Given the description of an element on the screen output the (x, y) to click on. 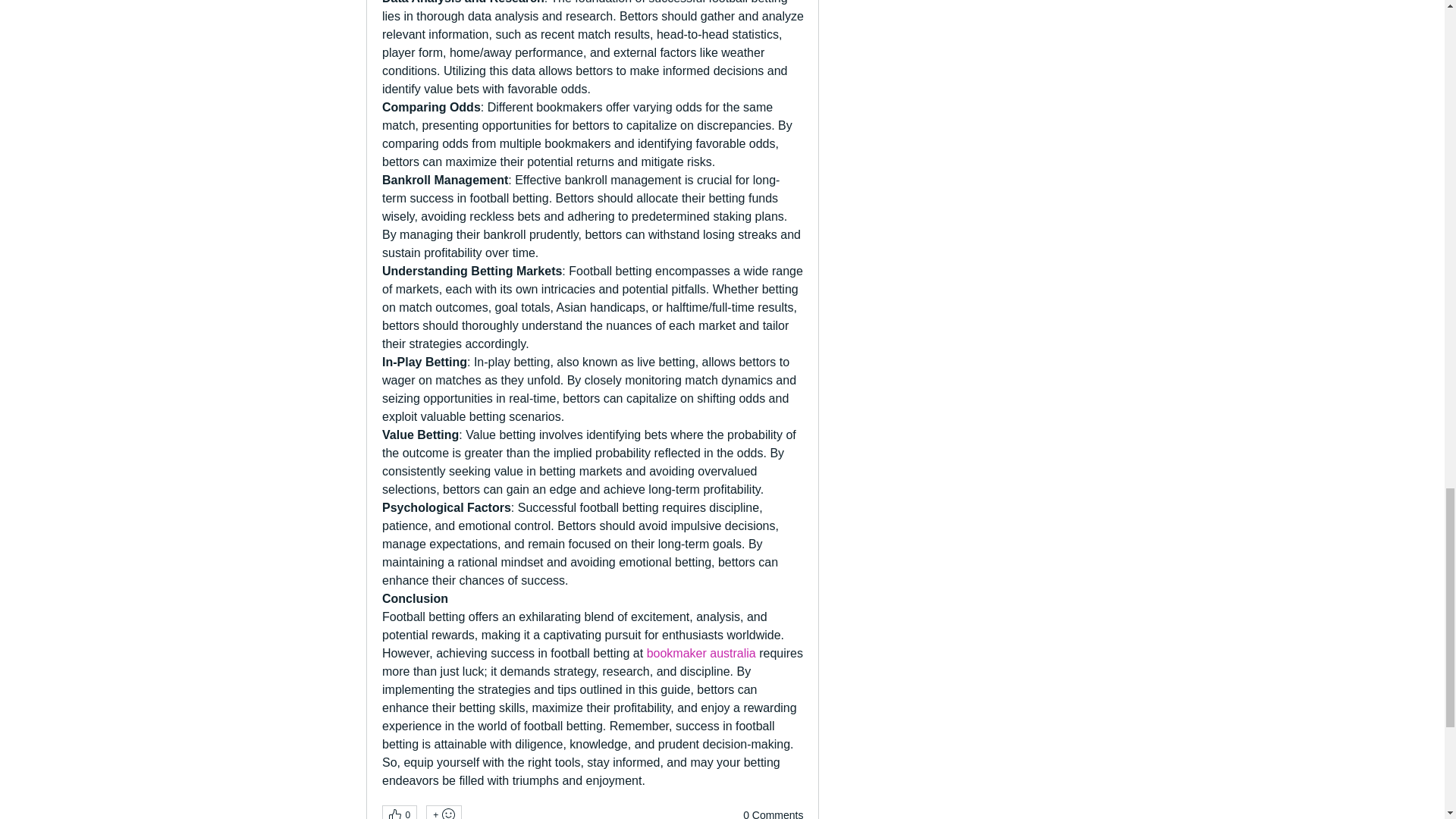
bookmaker australia (700, 653)
0 Comments (772, 813)
